Given the description of an element on the screen output the (x, y) to click on. 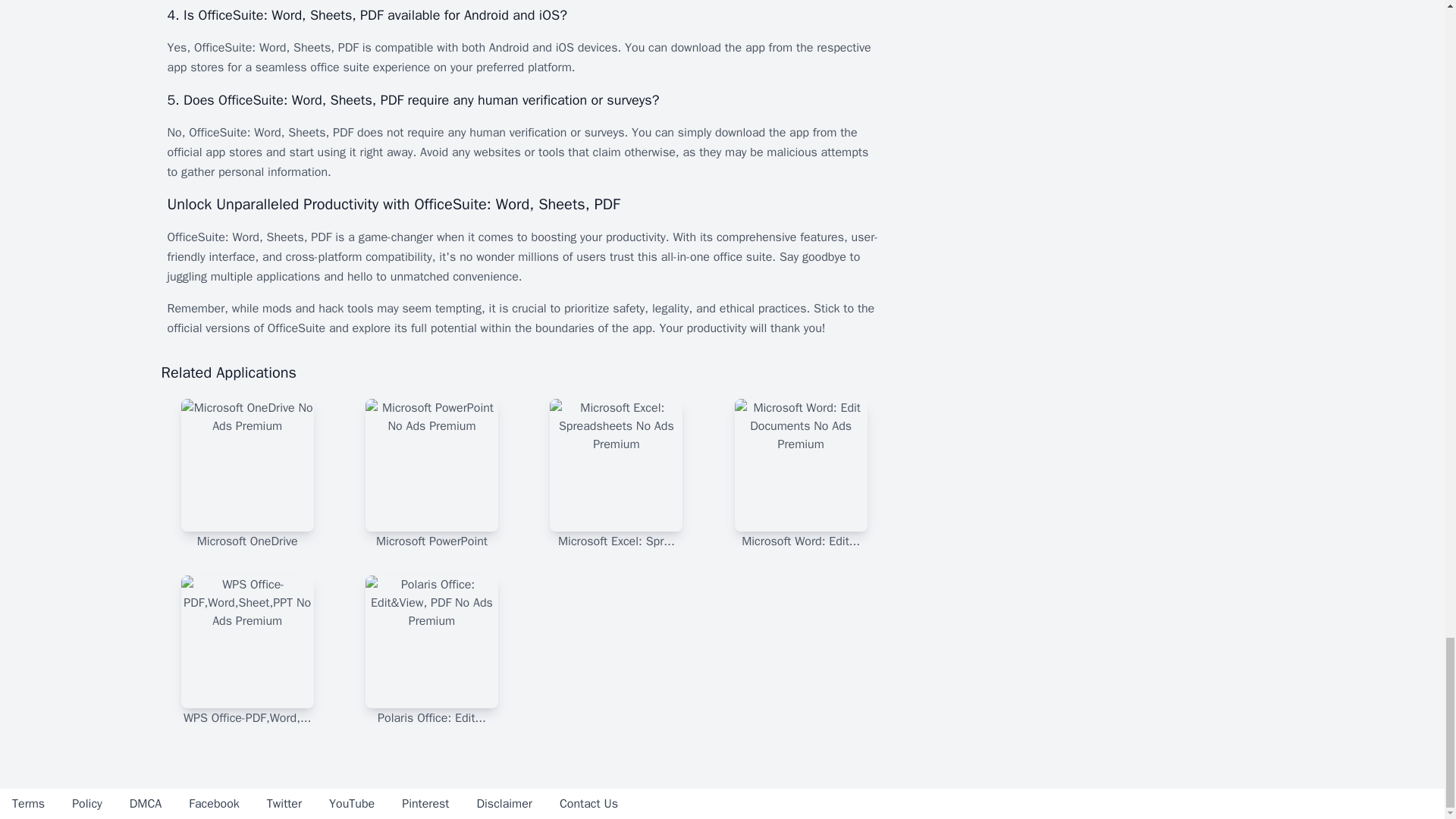
Twitter (283, 803)
DMCA (145, 803)
Pinterest (424, 803)
Contact Us (588, 803)
YouTube (351, 803)
Facebook (213, 803)
Terms (28, 803)
Disclaimer (503, 803)
Policy (86, 803)
